Given the description of an element on the screen output the (x, y) to click on. 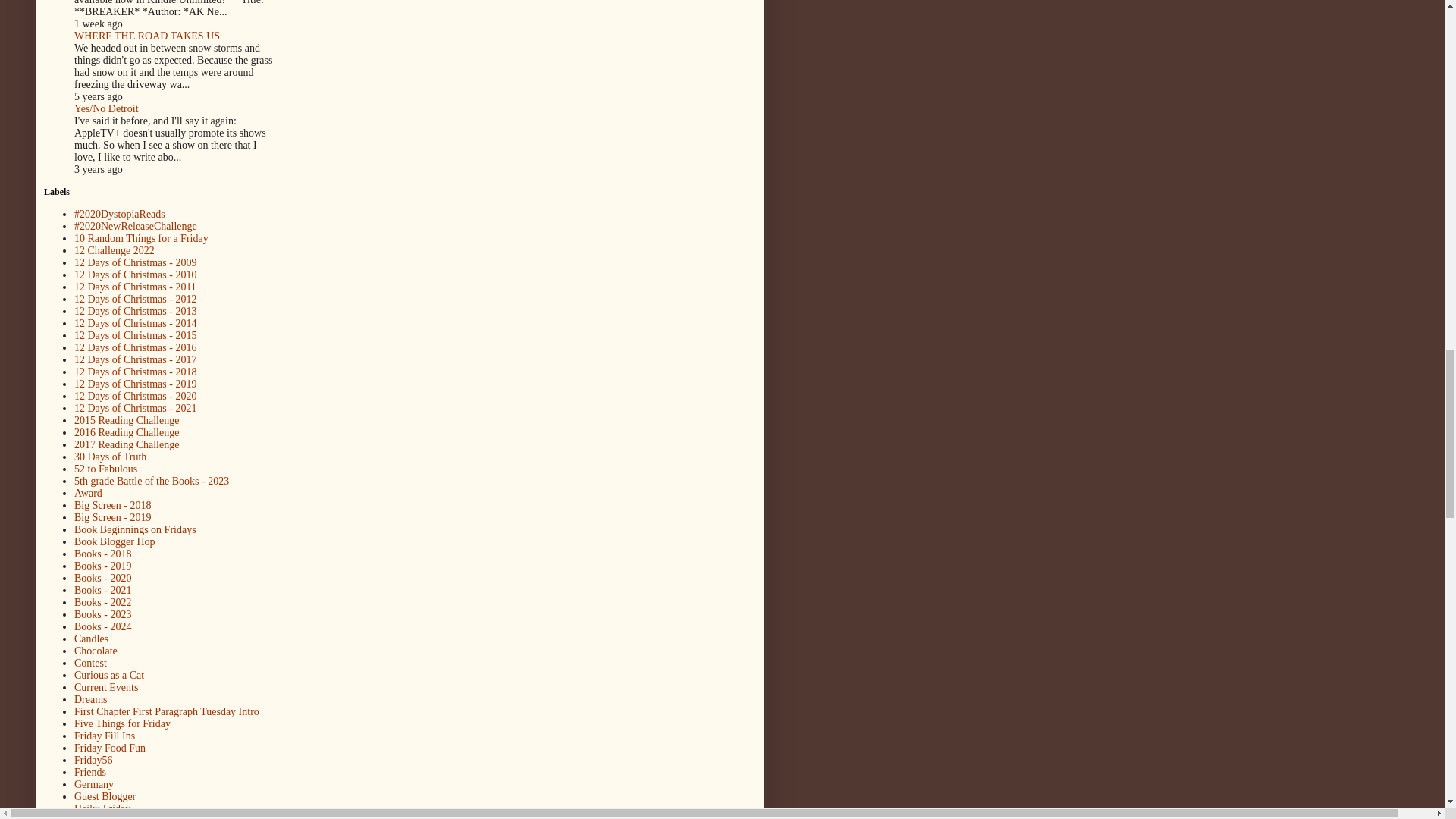
10 Random Things for a Friday (141, 238)
WHERE THE ROAD TAKES US (146, 35)
